Given the description of an element on the screen output the (x, y) to click on. 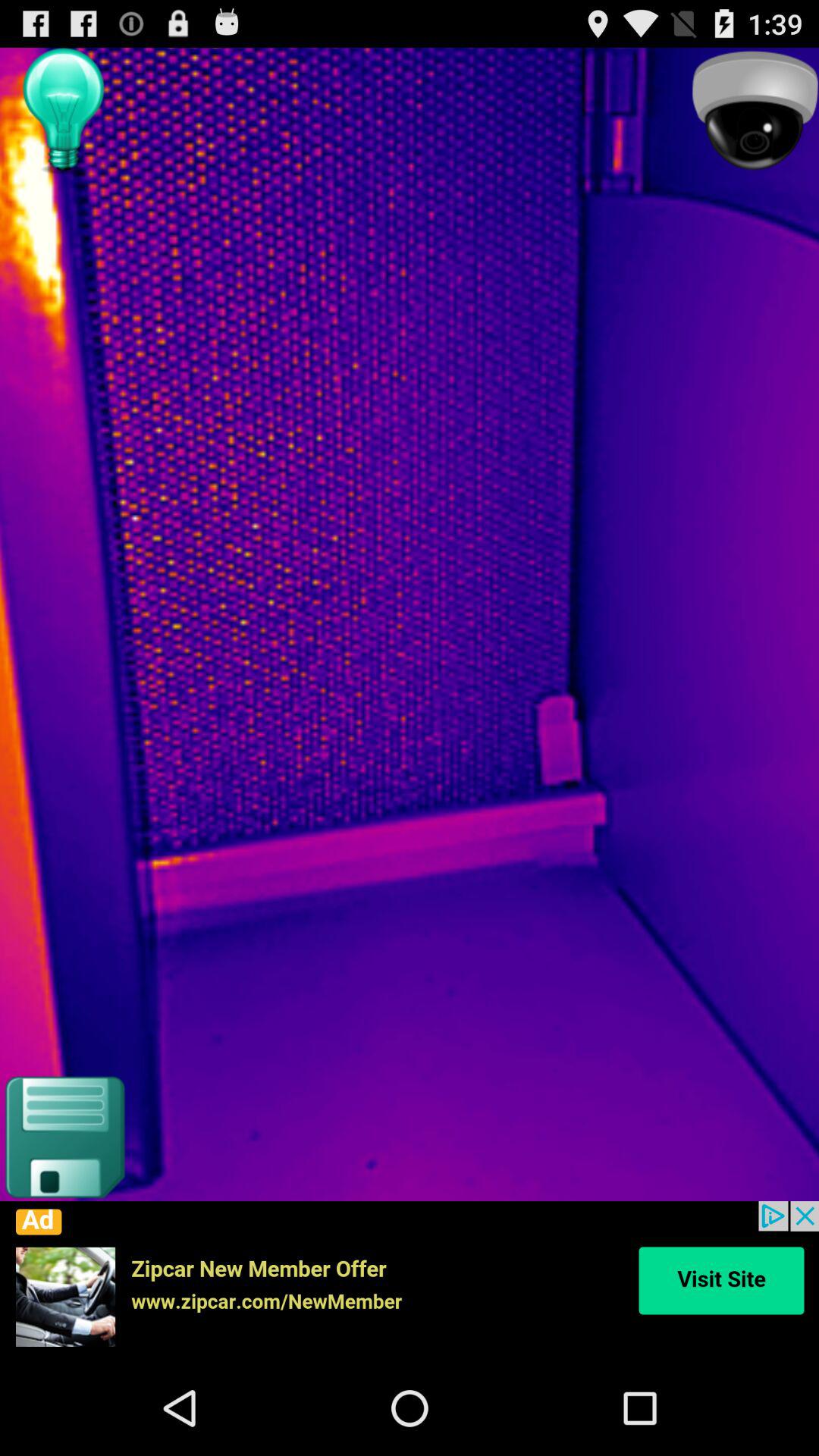
save (63, 1137)
